Given the description of an element on the screen output the (x, y) to click on. 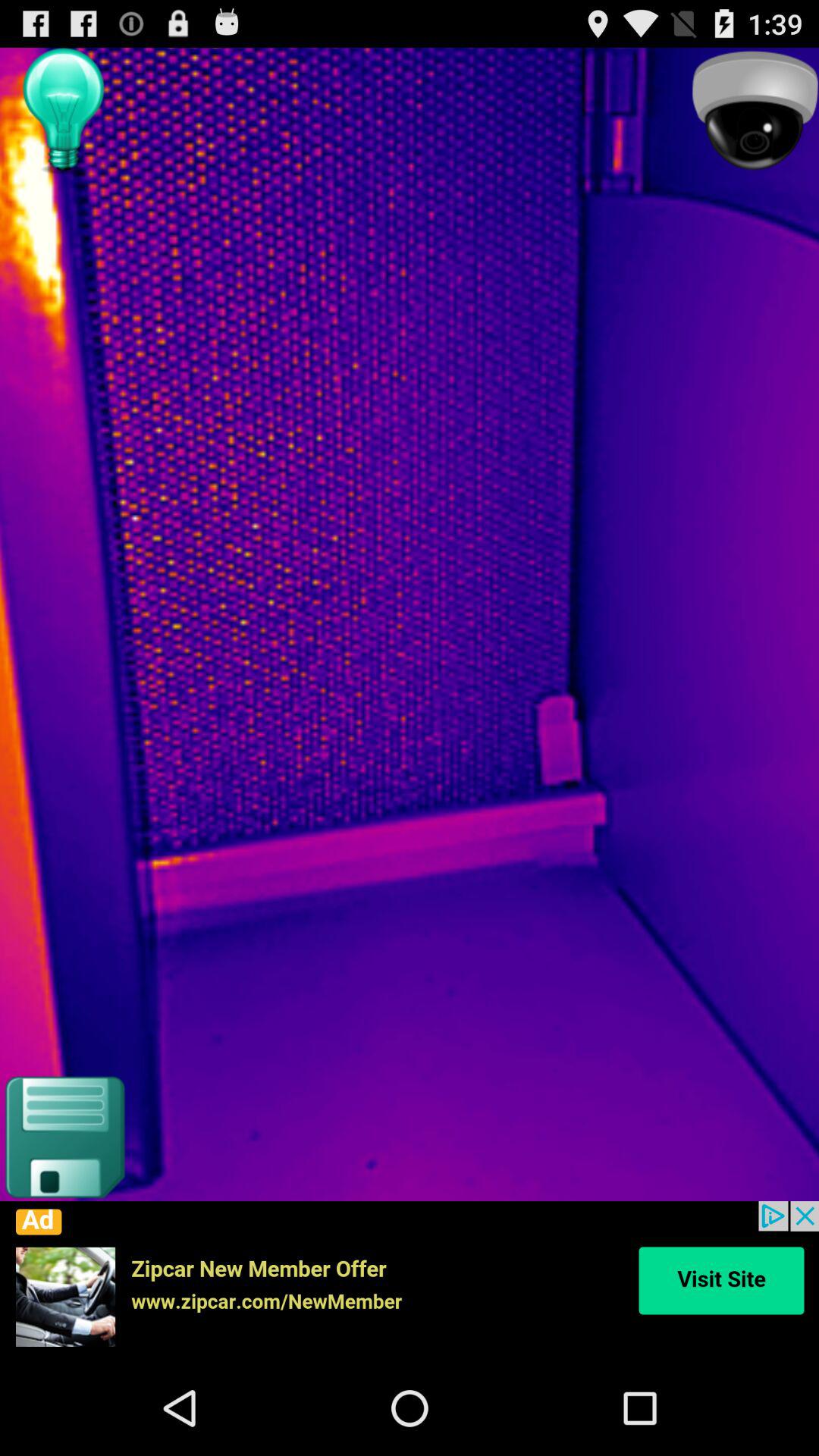
save (63, 1137)
